Given the description of an element on the screen output the (x, y) to click on. 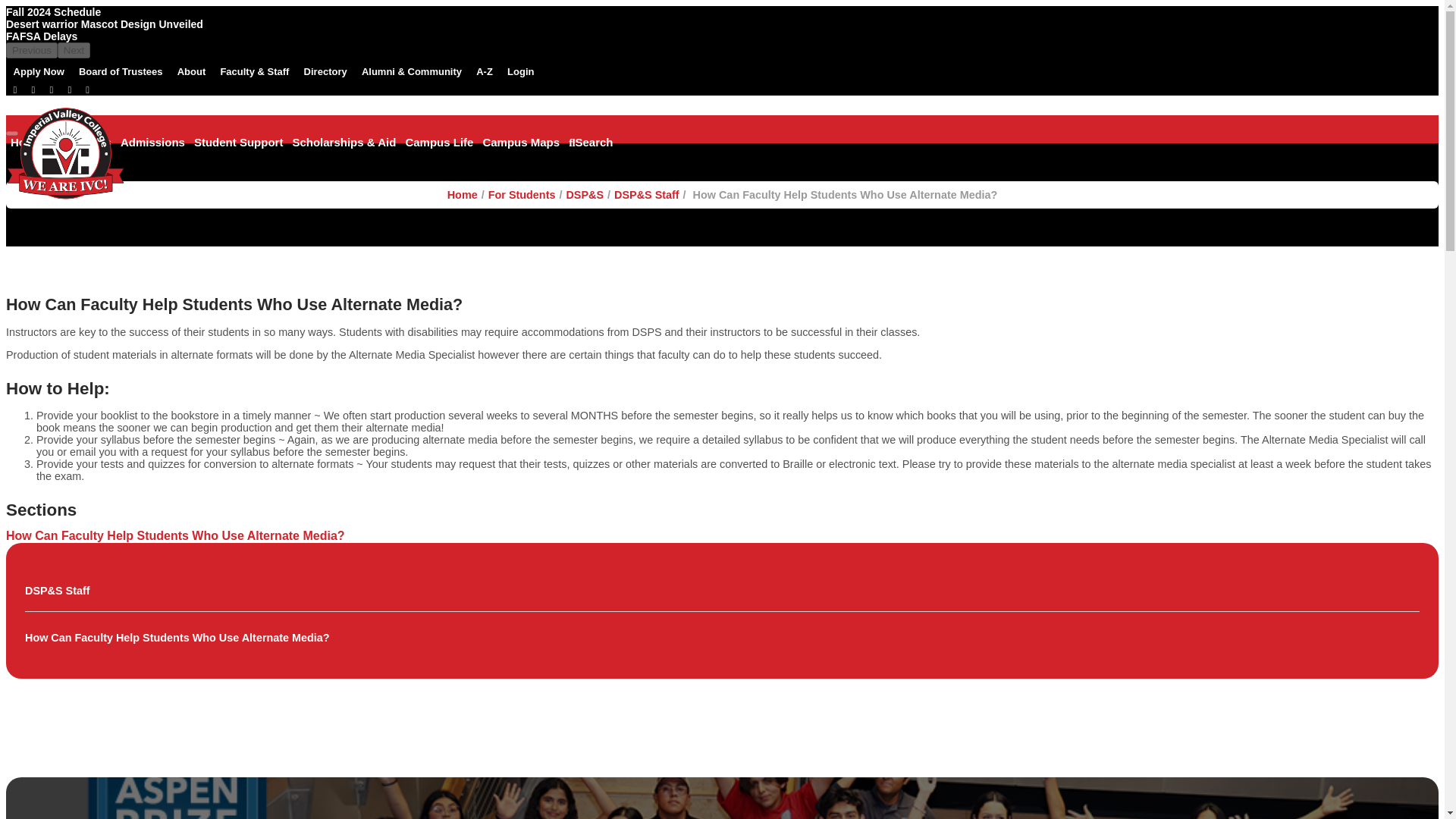
Search (590, 141)
Campus Life (438, 141)
Academics (81, 141)
Fall 2024 Schedule (52, 12)
Directory (325, 71)
Home (26, 141)
FAFSA Delays (41, 36)
Login (520, 71)
Next (74, 50)
Facebook icon (14, 89)
